Given the description of an element on the screen output the (x, y) to click on. 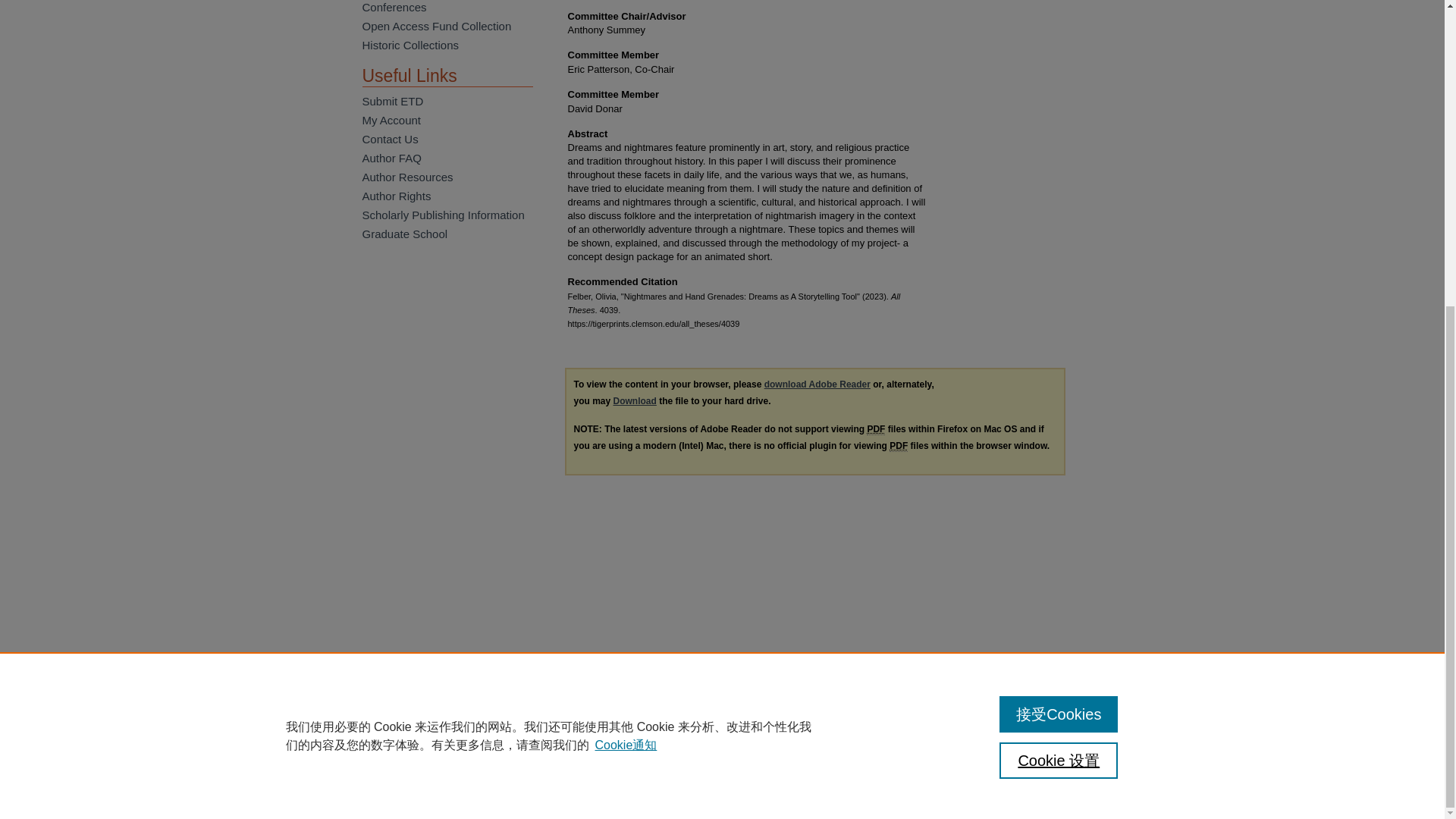
Download (634, 400)
download Adobe Reader (817, 384)
